Given the description of an element on the screen output the (x, y) to click on. 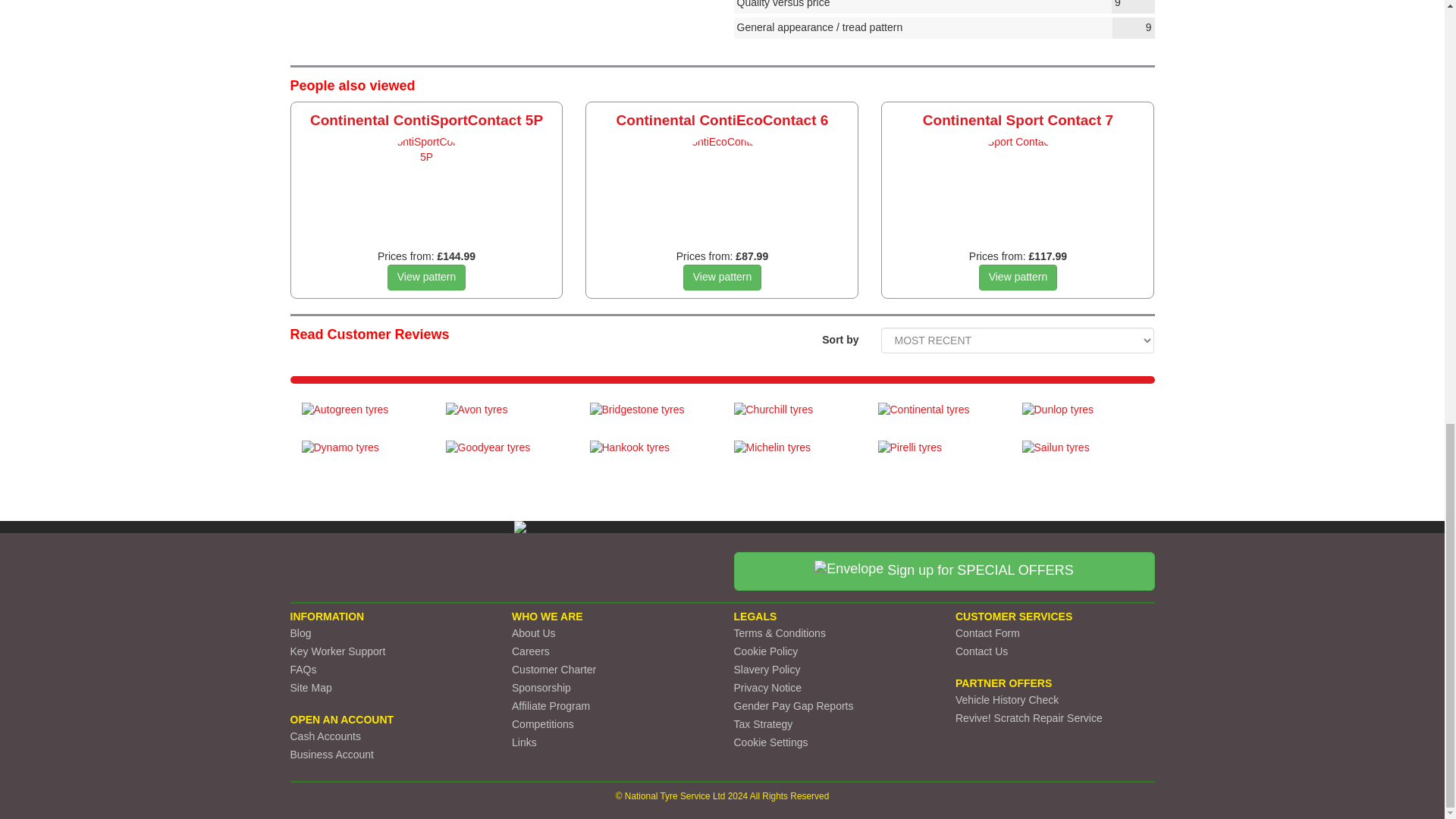
Autogreen car tyres (362, 417)
Continental car tyres (937, 417)
Avon car tyres (506, 417)
Bridgestone car tyres (650, 417)
Are these tyres value for money? (943, 6)
Did they look appealing? (943, 27)
Churchill car tyres (794, 417)
